Given the description of an element on the screen output the (x, y) to click on. 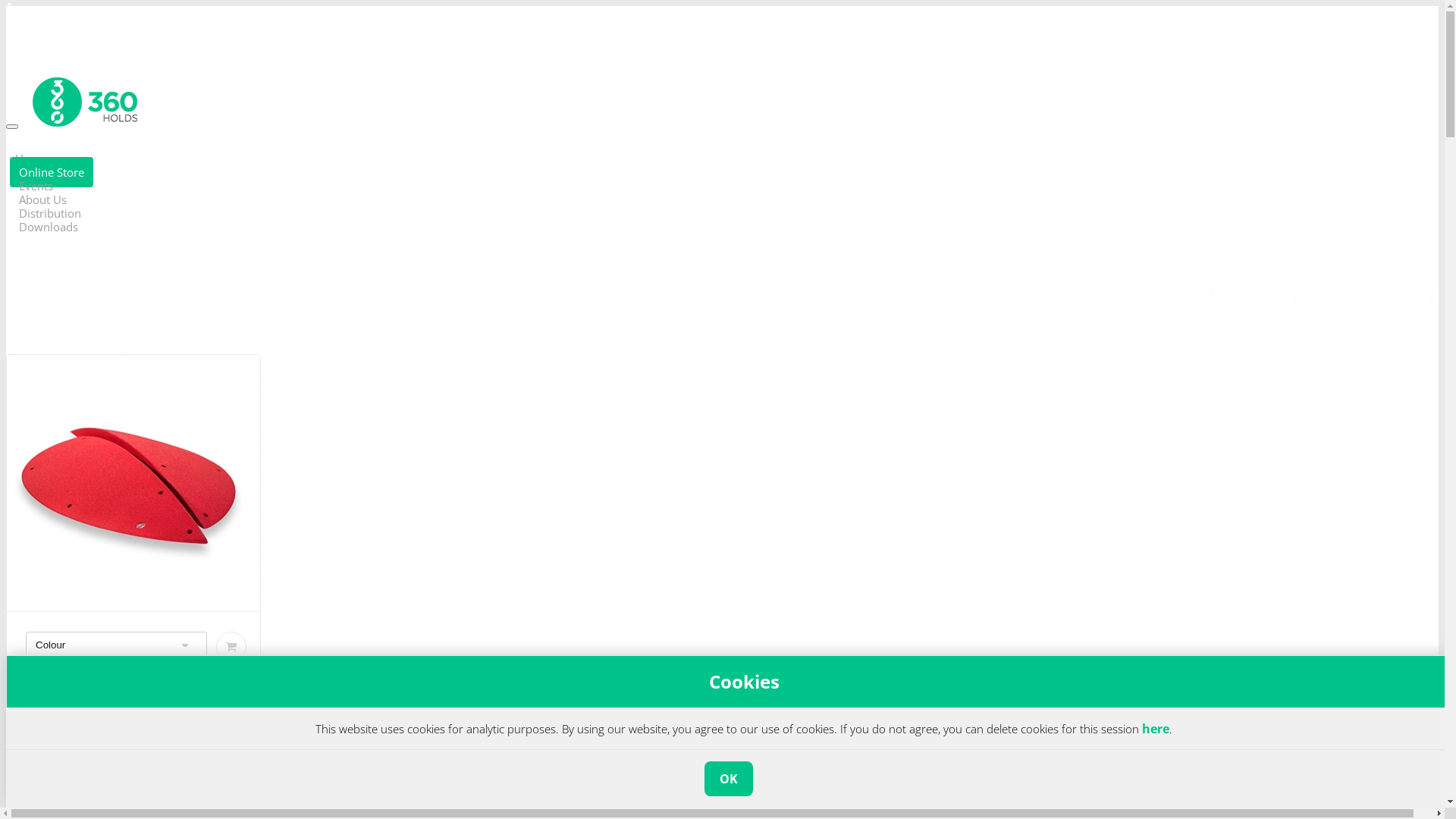
Downloads Element type: text (48, 226)
Online Store Element type: text (51, 171)
OK Element type: text (727, 778)
HOME Element type: text (1191, 289)
SLICES Element type: text (1411, 289)
here Element type: text (1155, 728)
Distribution Element type: text (49, 212)
Home Element type: text (31, 158)
About Us Element type: text (42, 199)
ONLINE STORE Element type: text (1258, 289)
Events Element type: text (35, 185)
GRP VOLUMES Element type: text (1344, 289)
